Given the description of an element on the screen output the (x, y) to click on. 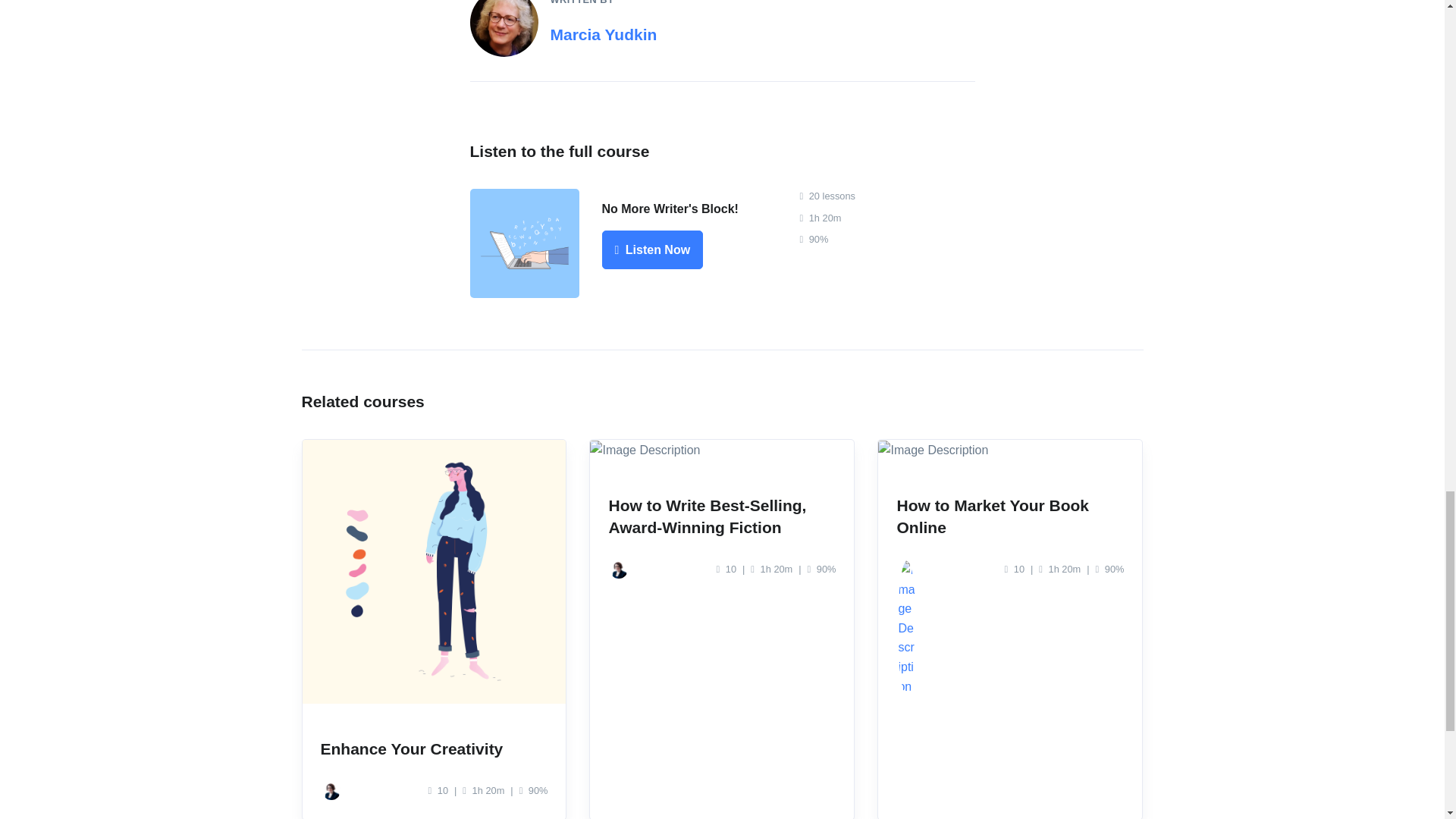
John Robin (906, 568)
K.C. Finn (618, 568)
Marcia Yudkin (604, 34)
How to Write Best-Selling, Award-Winning Fiction (707, 516)
How to Market Your Book Online (992, 516)
K.C. Finn (330, 790)
Enhance Your Creativity (411, 748)
